Given the description of an element on the screen output the (x, y) to click on. 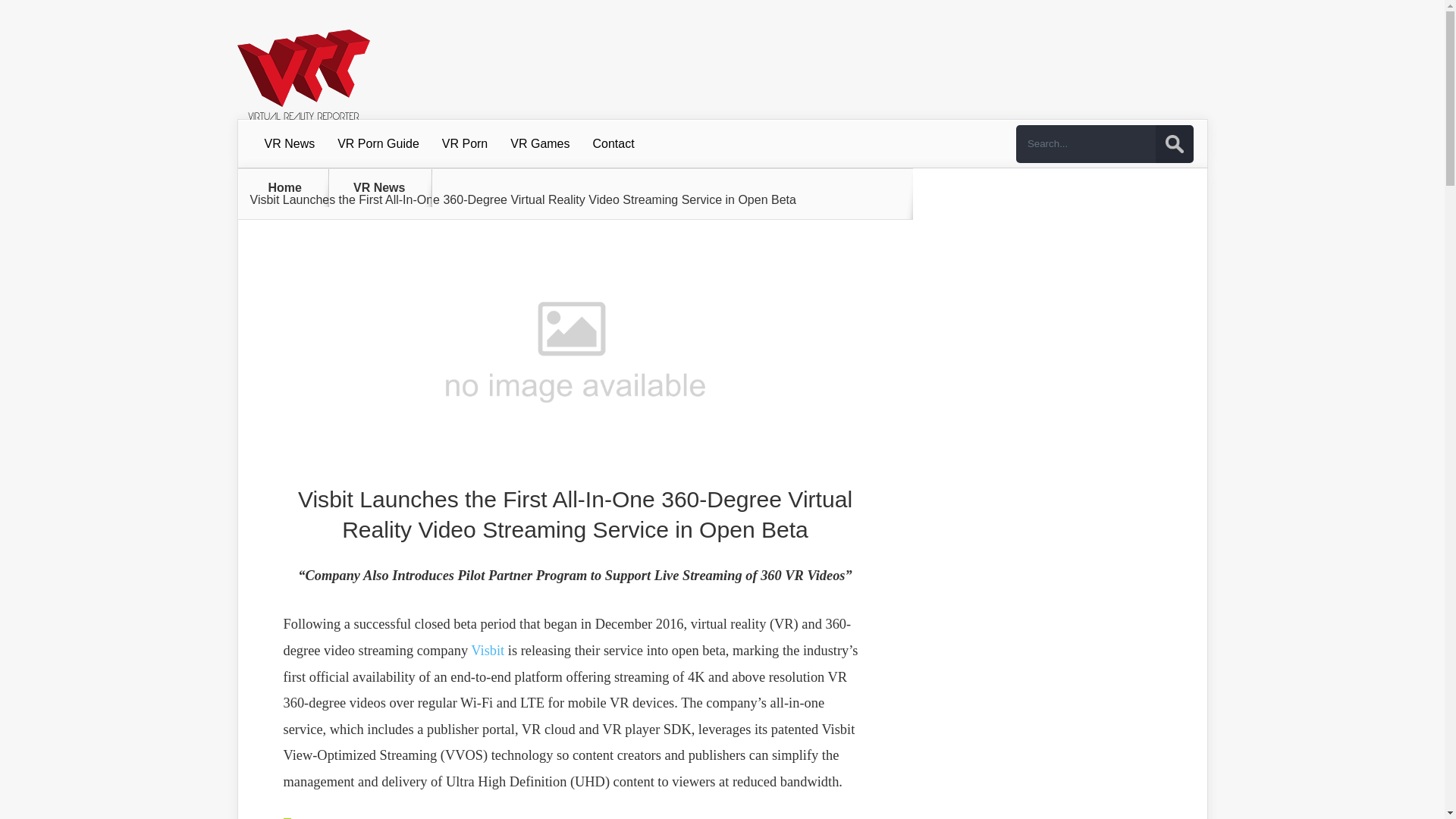
Visbit (486, 650)
VR Porn (464, 143)
Contact (613, 143)
VR Games (539, 143)
Home (285, 187)
VR News (289, 143)
VR News (388, 187)
VR Porn Guide (378, 143)
